Given the description of an element on the screen output the (x, y) to click on. 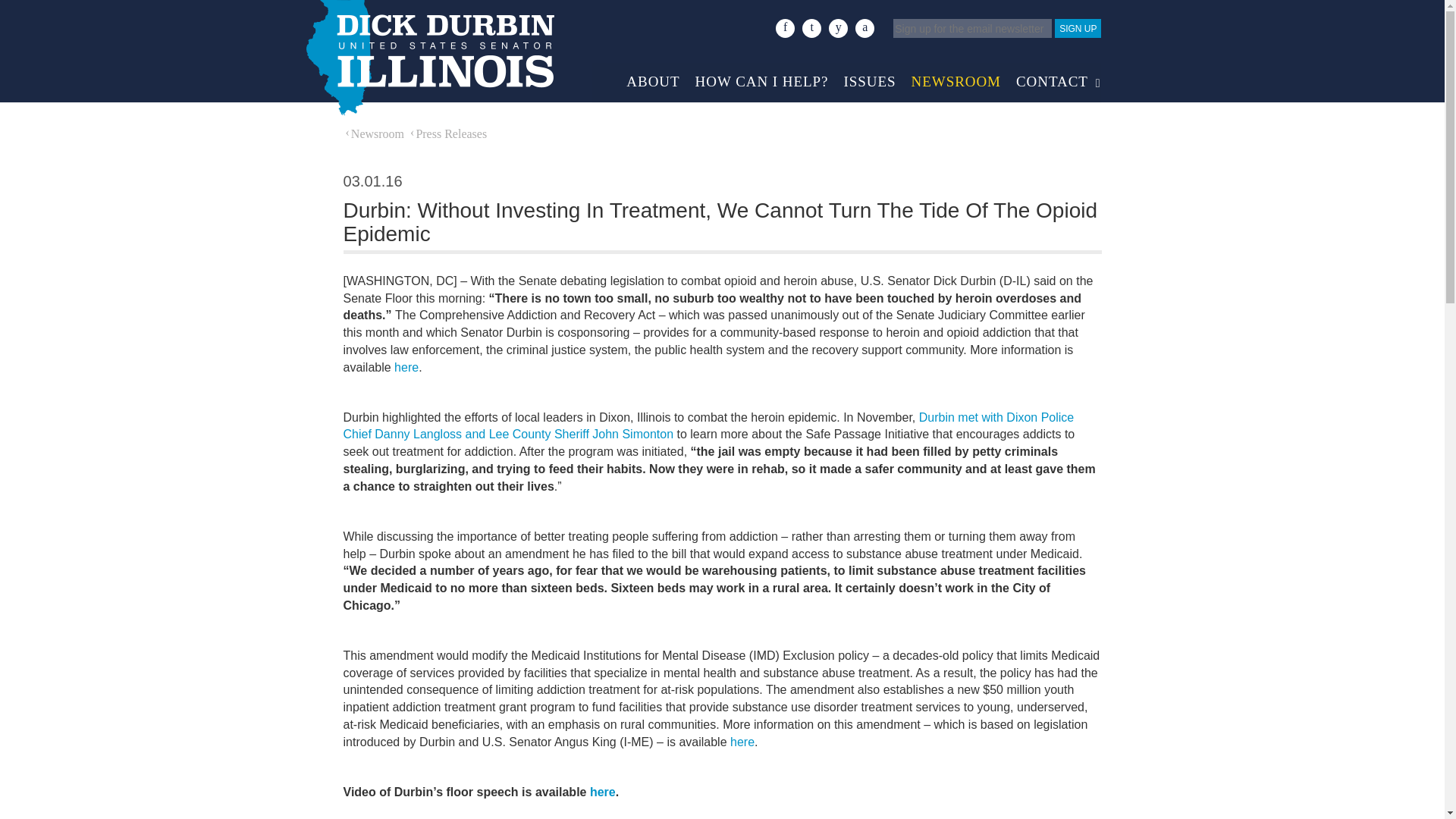
Senator Dick Durbin (428, 58)
t (811, 27)
a (865, 27)
f (785, 27)
SIGN UP (1077, 27)
y (837, 27)
SIGN UP (1077, 27)
ABOUT (652, 77)
